Given the description of an element on the screen output the (x, y) to click on. 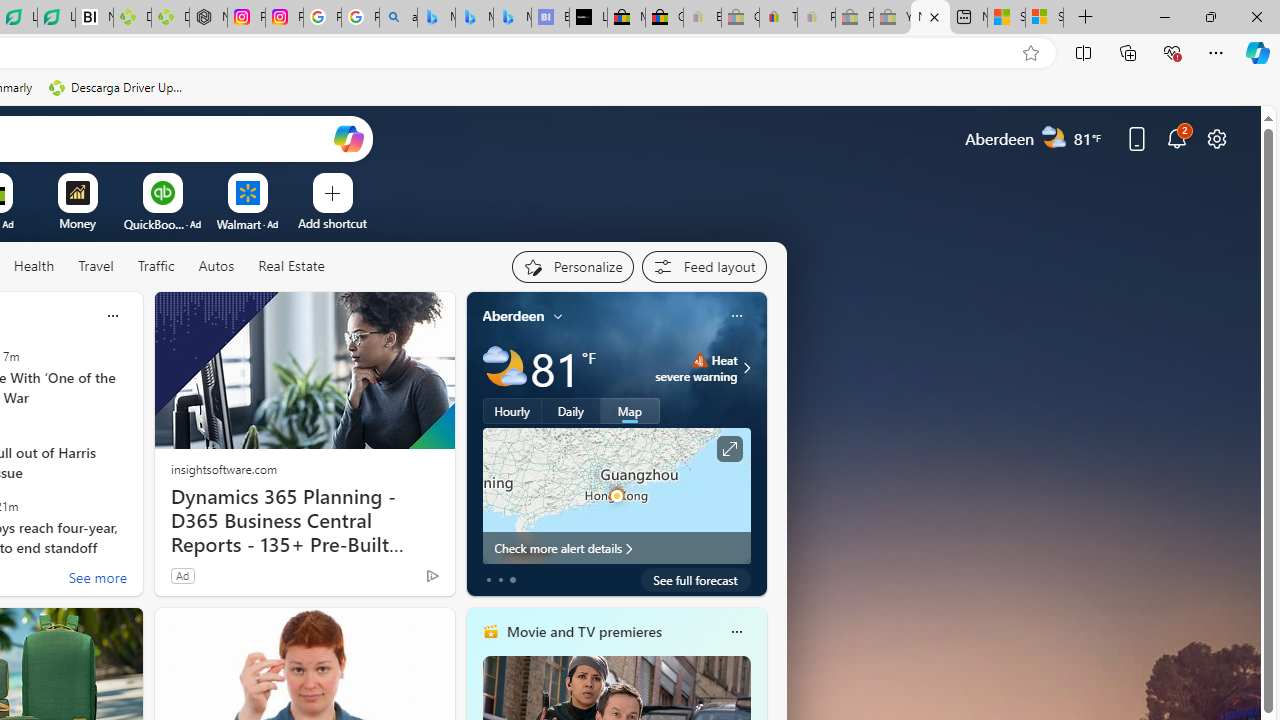
See full forecast (695, 579)
Aberdeen (513, 315)
Money (77, 223)
Yard, Garden & Outdoor Living - Sleeping (892, 17)
LendingTree - Compare Lenders (56, 17)
Class: icon-img (736, 632)
Travel (95, 267)
Add a site (332, 223)
Press Room - eBay Inc. - Sleeping (853, 17)
Autos (215, 265)
Descarga Driver Updater (118, 88)
